Given the description of an element on the screen output the (x, y) to click on. 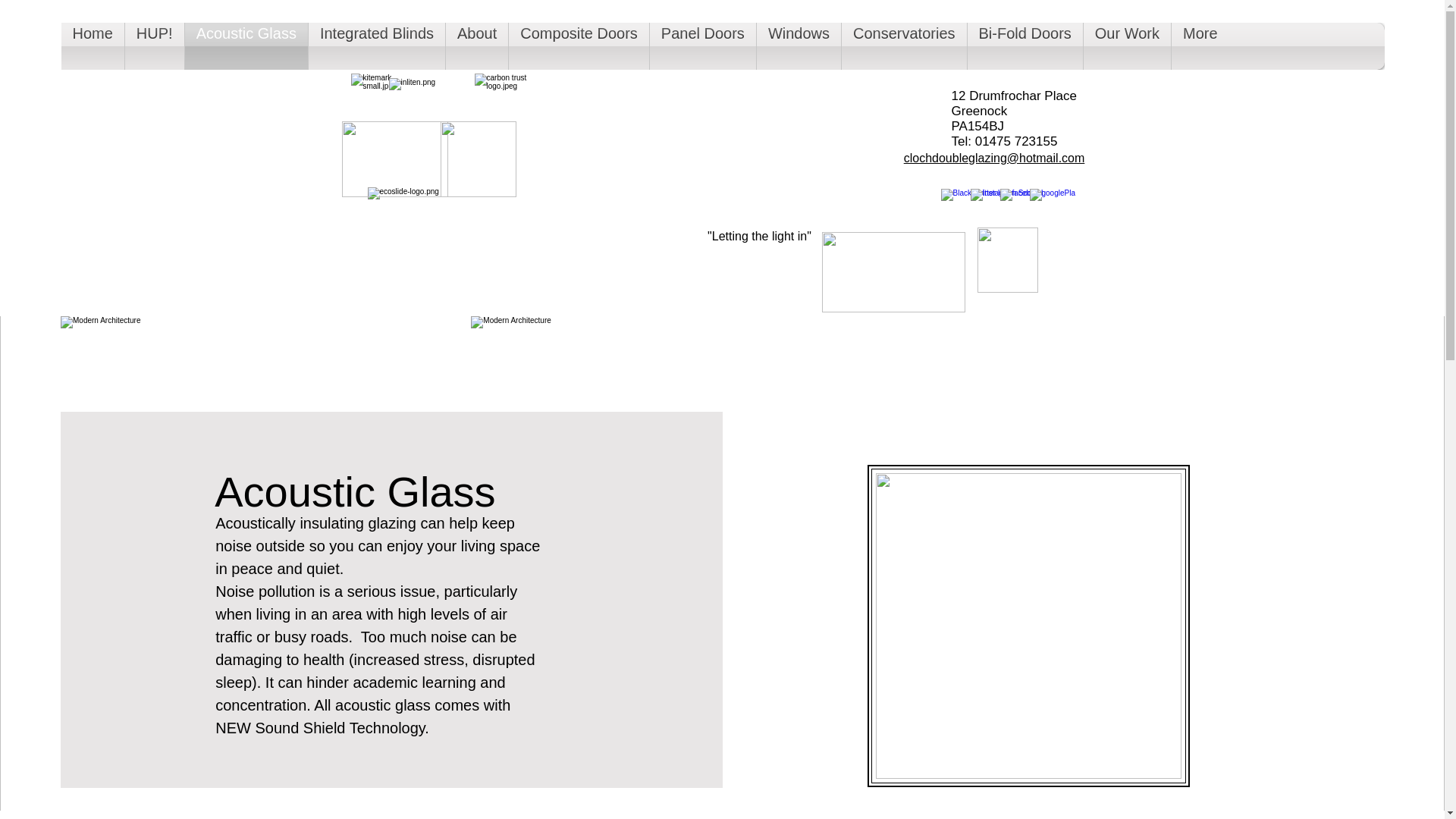
HUP! (154, 45)
Home (92, 45)
Hallmark awaard logo.png (477, 159)
About (476, 45)
Composite Doors (578, 45)
Our Work (1126, 45)
Panel Doors (702, 45)
Conservatories (903, 45)
Hup logo.png (893, 271)
Bi-Fold Doors (1025, 45)
